Given the description of an element on the screen output the (x, y) to click on. 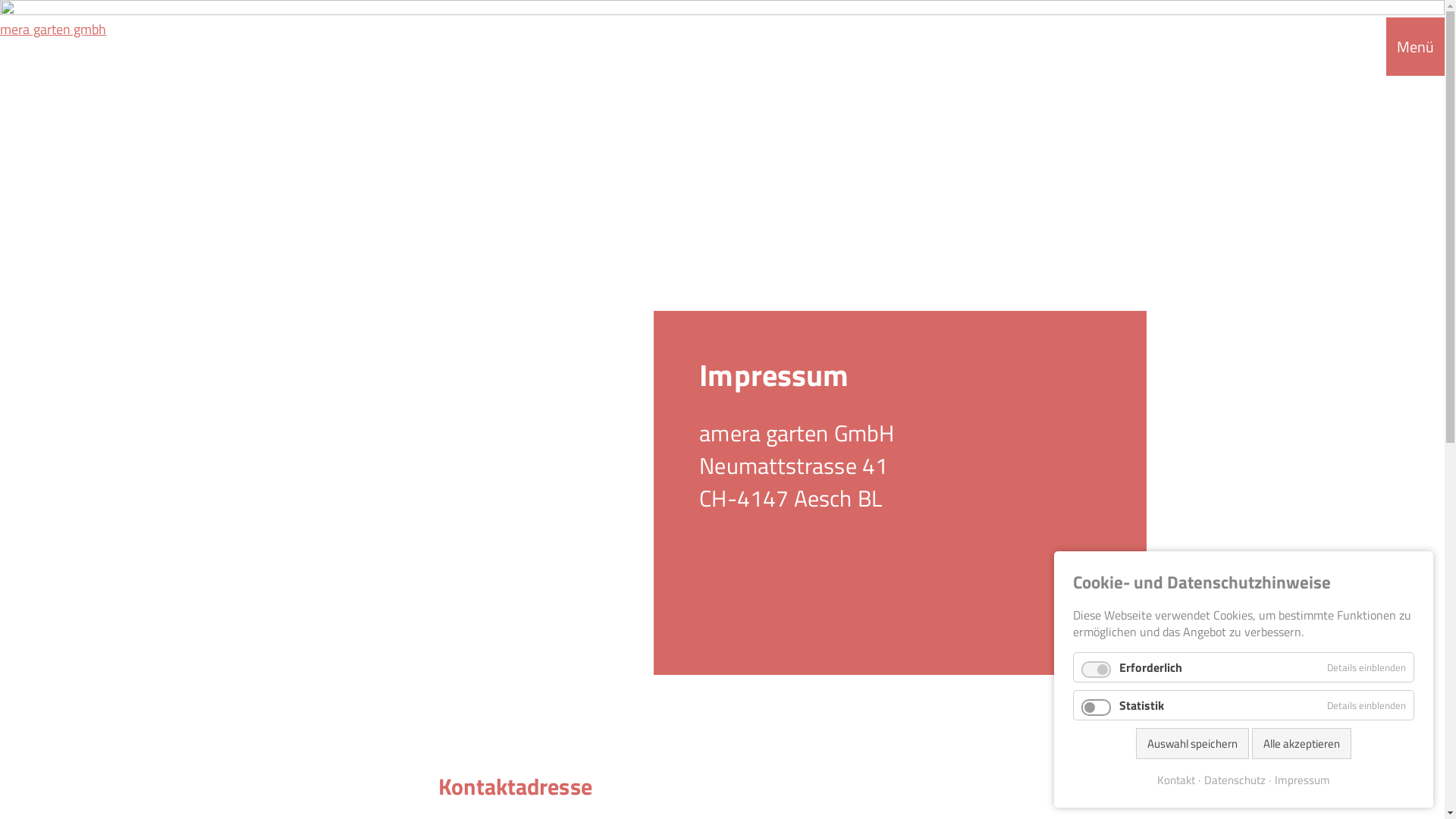
Auswahl speichern Element type: text (1191, 743)
Kontakt Element type: text (1176, 780)
Details einblenden Element type: text (1366, 704)
Datenschutz Element type: text (1231, 780)
Alle akzeptieren Element type: text (1301, 743)
kontakt.jpg Element type: hover (722, 299)
Details einblenden Element type: text (1366, 666)
Impressum Element type: text (1299, 780)
